Given the description of an element on the screen output the (x, y) to click on. 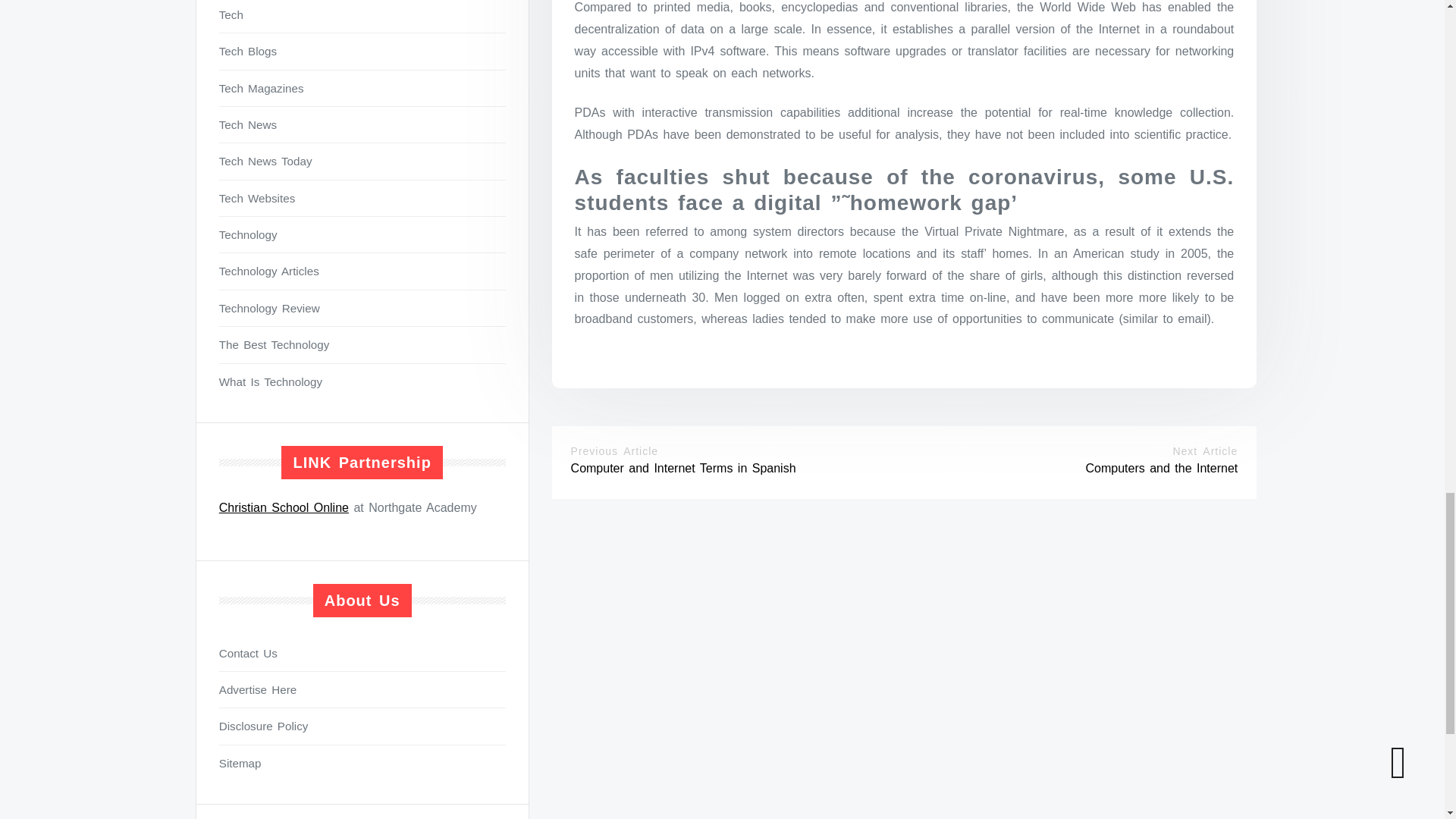
Computers and the Internet (1160, 468)
Computer and Internet Terms in Spanish (683, 468)
